Given the description of an element on the screen output the (x, y) to click on. 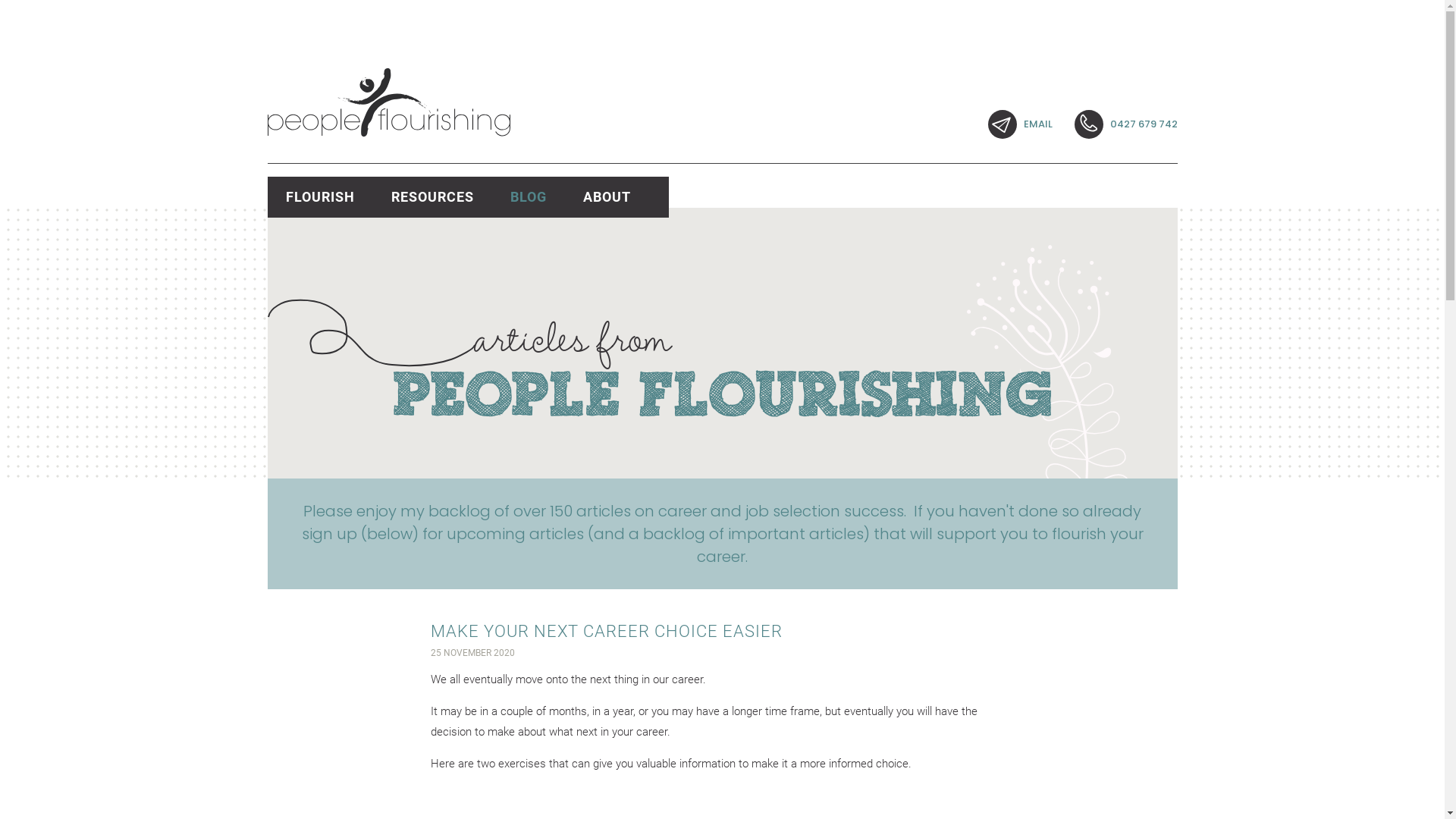
ABOUT Element type: text (616, 196)
RESOURCES Element type: text (432, 196)
0427 679 742 Element type: text (1124, 123)
FLOURISH Element type: text (319, 196)
BLOG Element type: text (527, 196)
EMAIL Element type: text (1019, 123)
